Given the description of an element on the screen output the (x, y) to click on. 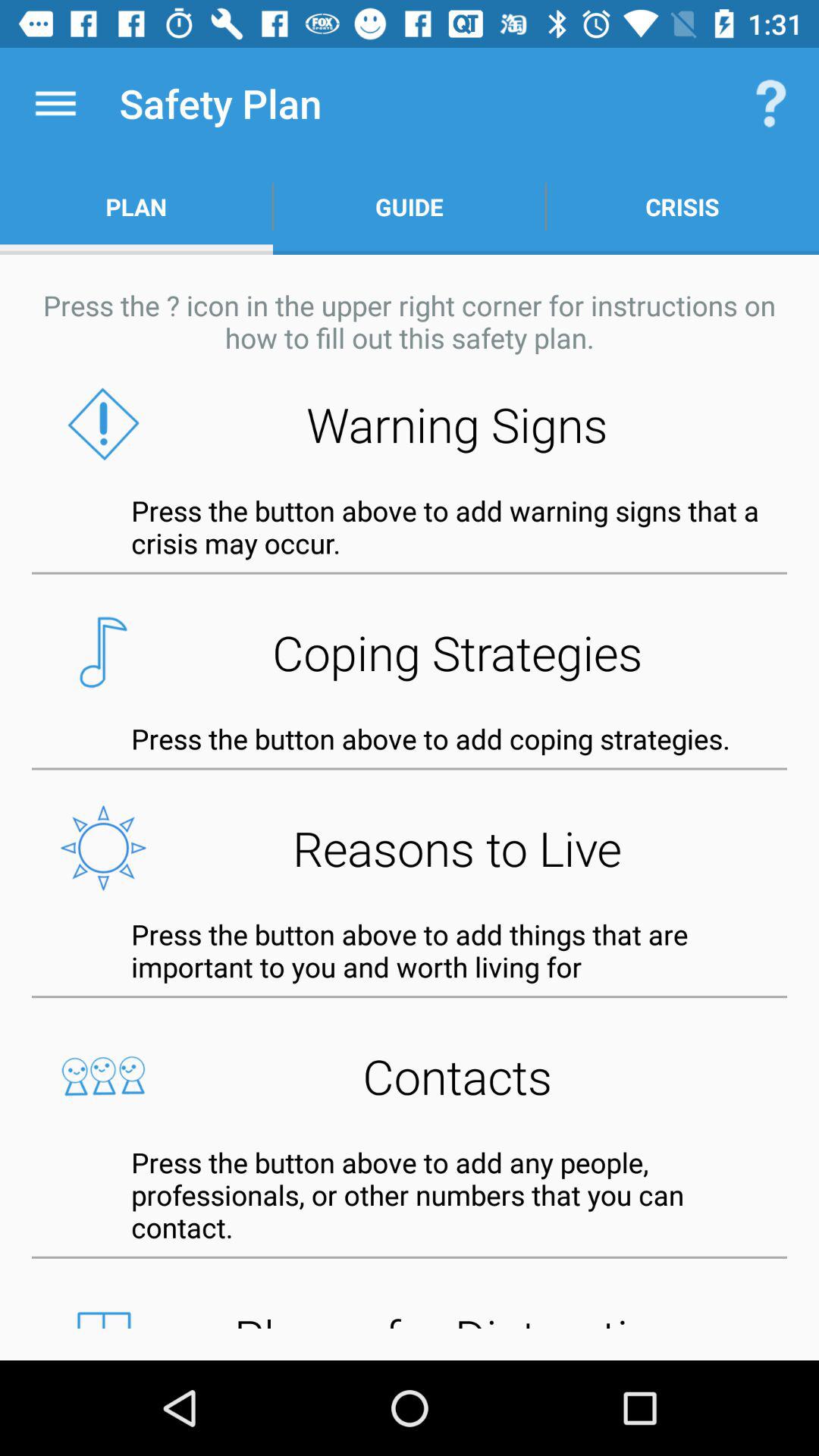
press the reasons to live button (409, 847)
